Given the description of an element on the screen output the (x, y) to click on. 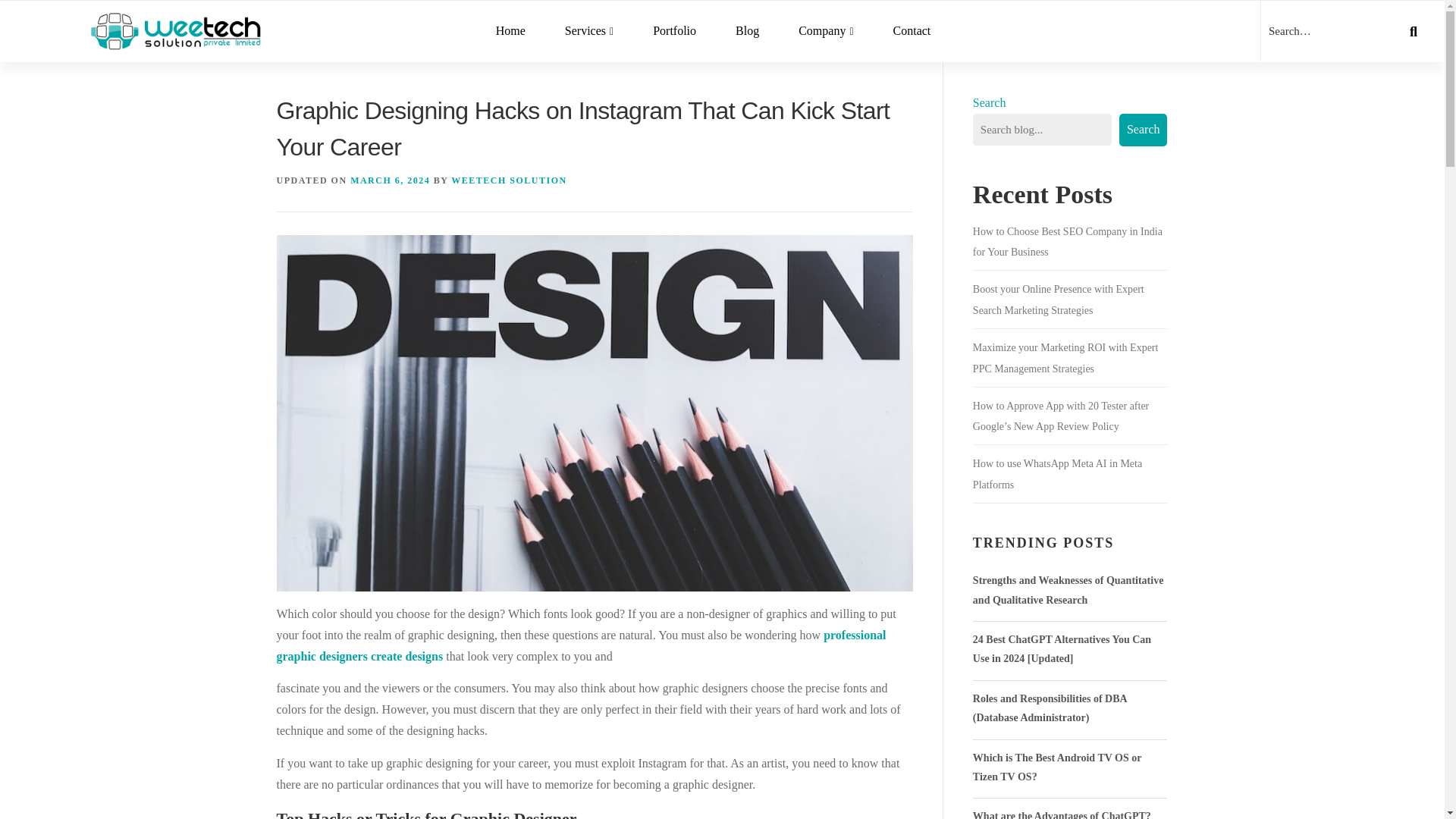
Company (825, 31)
